Given the description of an element on the screen output the (x, y) to click on. 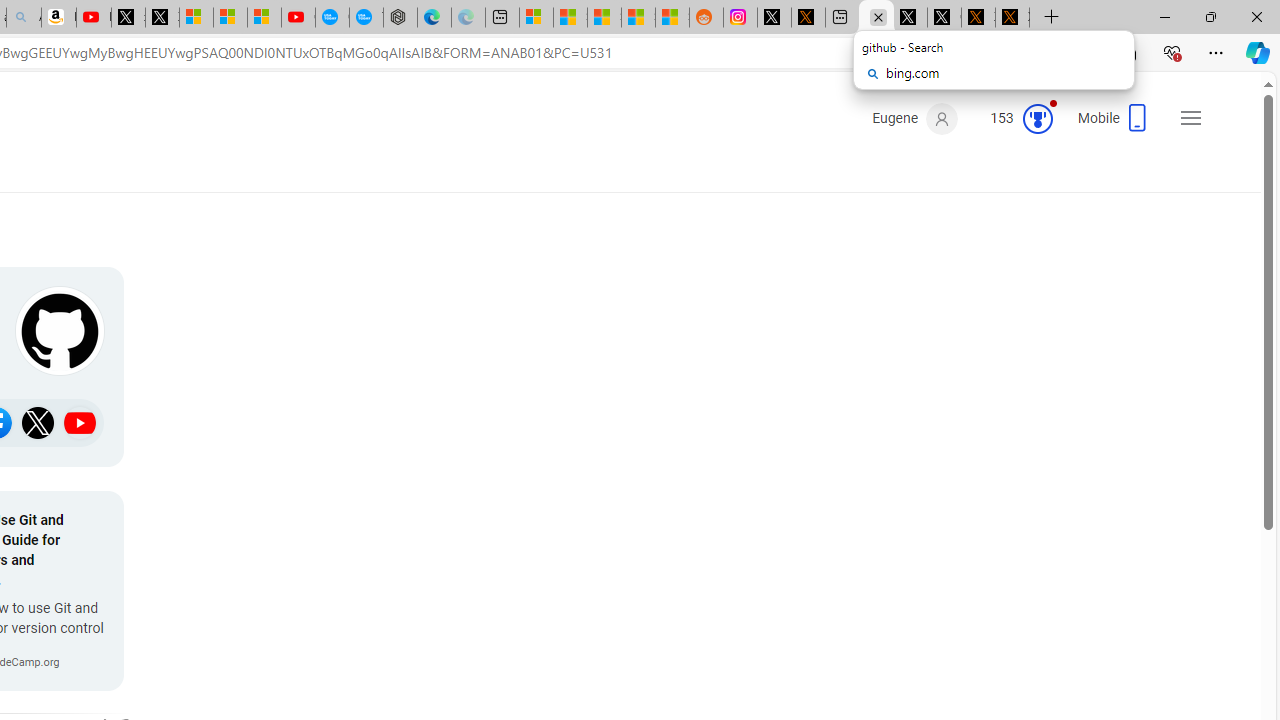
Log in to X / X (774, 17)
Class: b_sitlk (80, 422)
Day 1: Arriving in Yemen (surreal to be here) - YouTube (93, 17)
Eugene (914, 119)
Shanghai, China weather forecast | Microsoft Weather (570, 17)
